Given the description of an element on the screen output the (x, y) to click on. 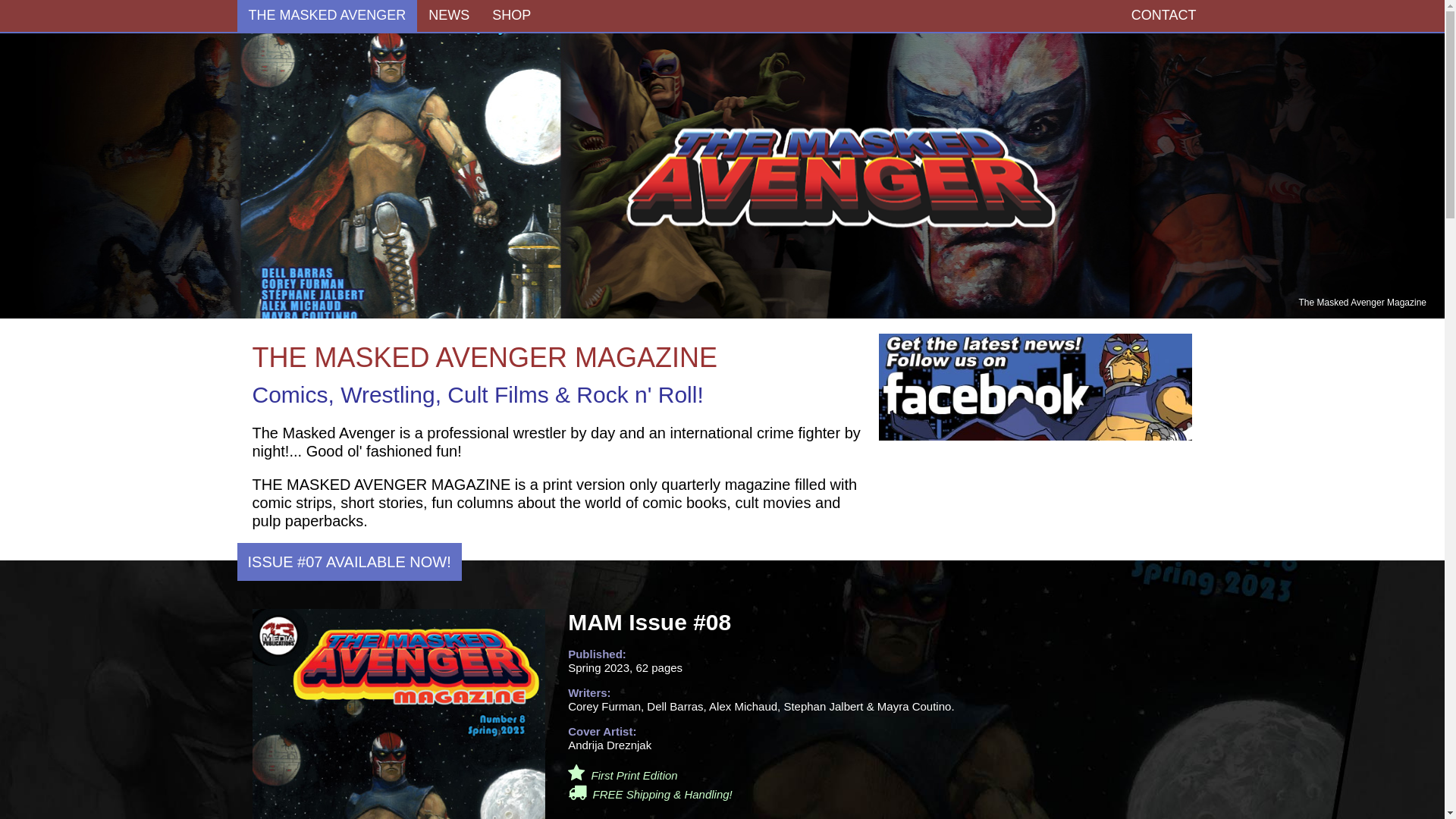
SHOP Element type: text (511, 15)
NEWS Element type: text (448, 15)
CONTACT Element type: text (1164, 15)
Follow Us on Facebook Element type: hover (1035, 385)
THE MASKED AVENGER Element type: text (326, 15)
